Given the description of an element on the screen output the (x, y) to click on. 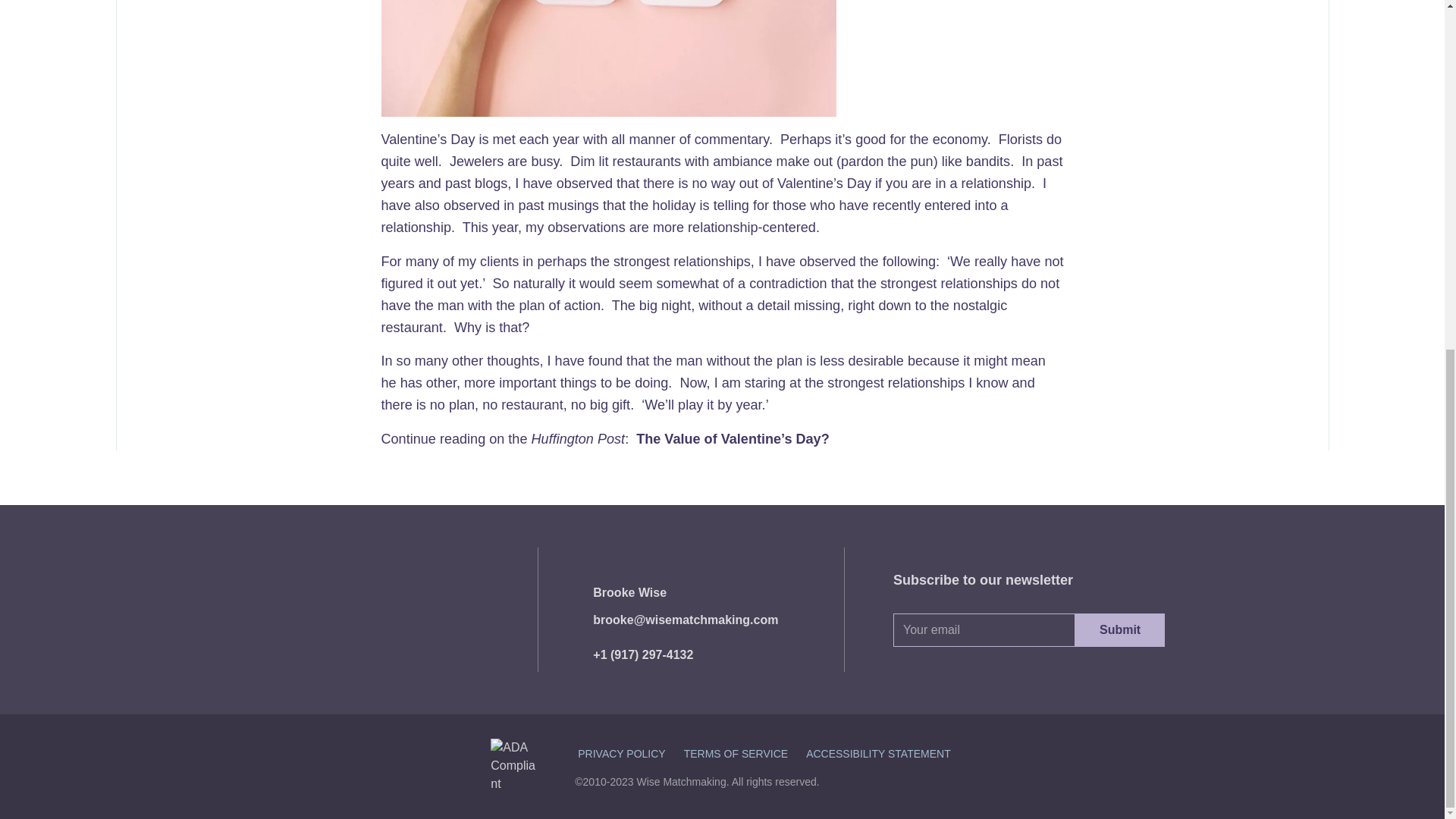
Submit (1119, 630)
Submit (1119, 630)
Main page (383, 609)
TERMS OF SERVICE (735, 754)
ACCESSIBILITY STATEMENT (878, 754)
PRIVACY POLICY (621, 754)
